Given the description of an element on the screen output the (x, y) to click on. 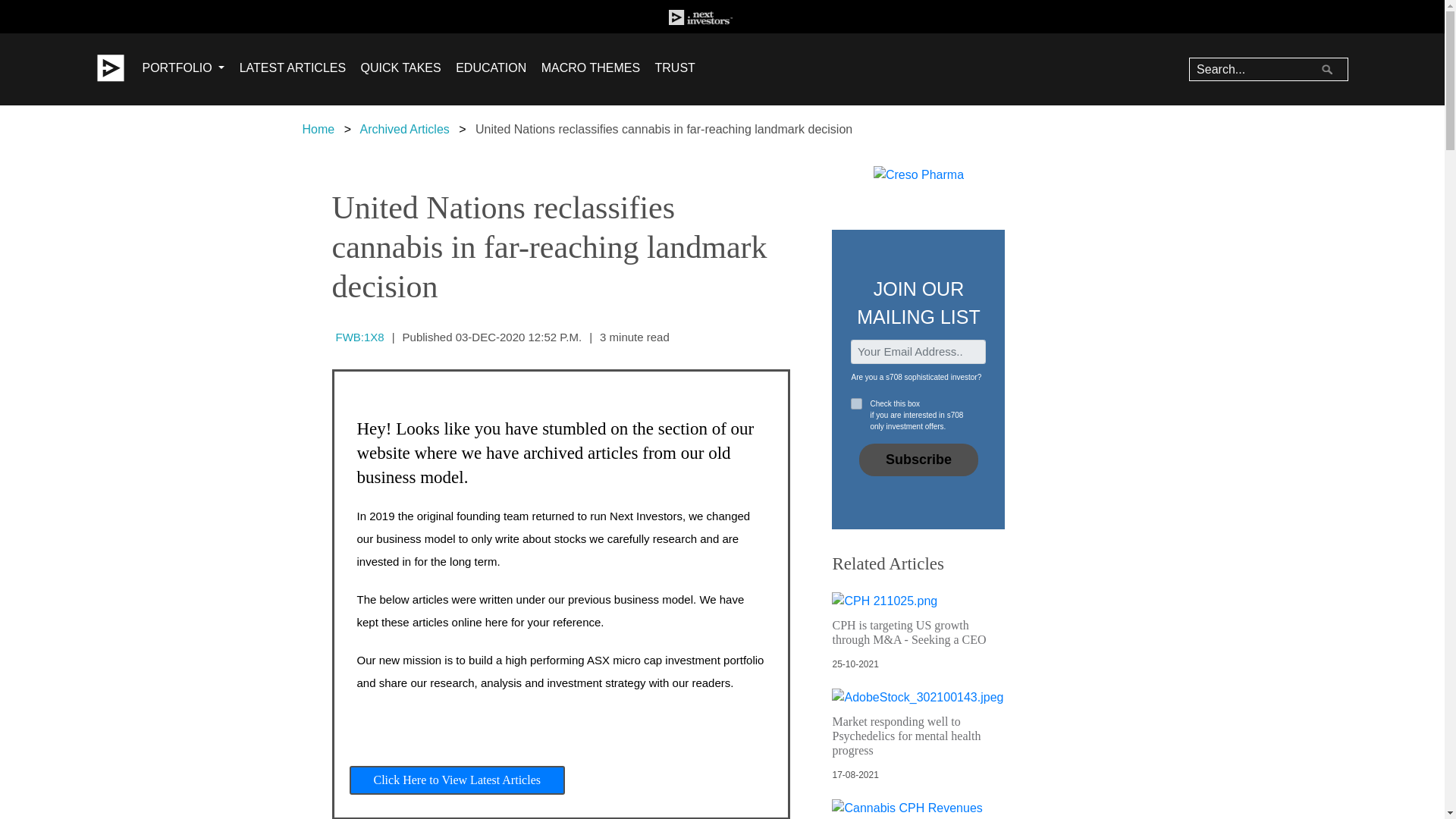
FWB:1X8 (360, 337)
Click Here to View Latest Articles (456, 779)
LATEST ARTICLES (293, 69)
PORTFOLIO (183, 69)
EDUCATION (490, 69)
search (1328, 71)
TRUST (675, 69)
QUICK TAKES (401, 69)
on (855, 403)
Home (317, 128)
MACRO THEMES (590, 69)
Archived Articles (404, 128)
